Given the description of an element on the screen output the (x, y) to click on. 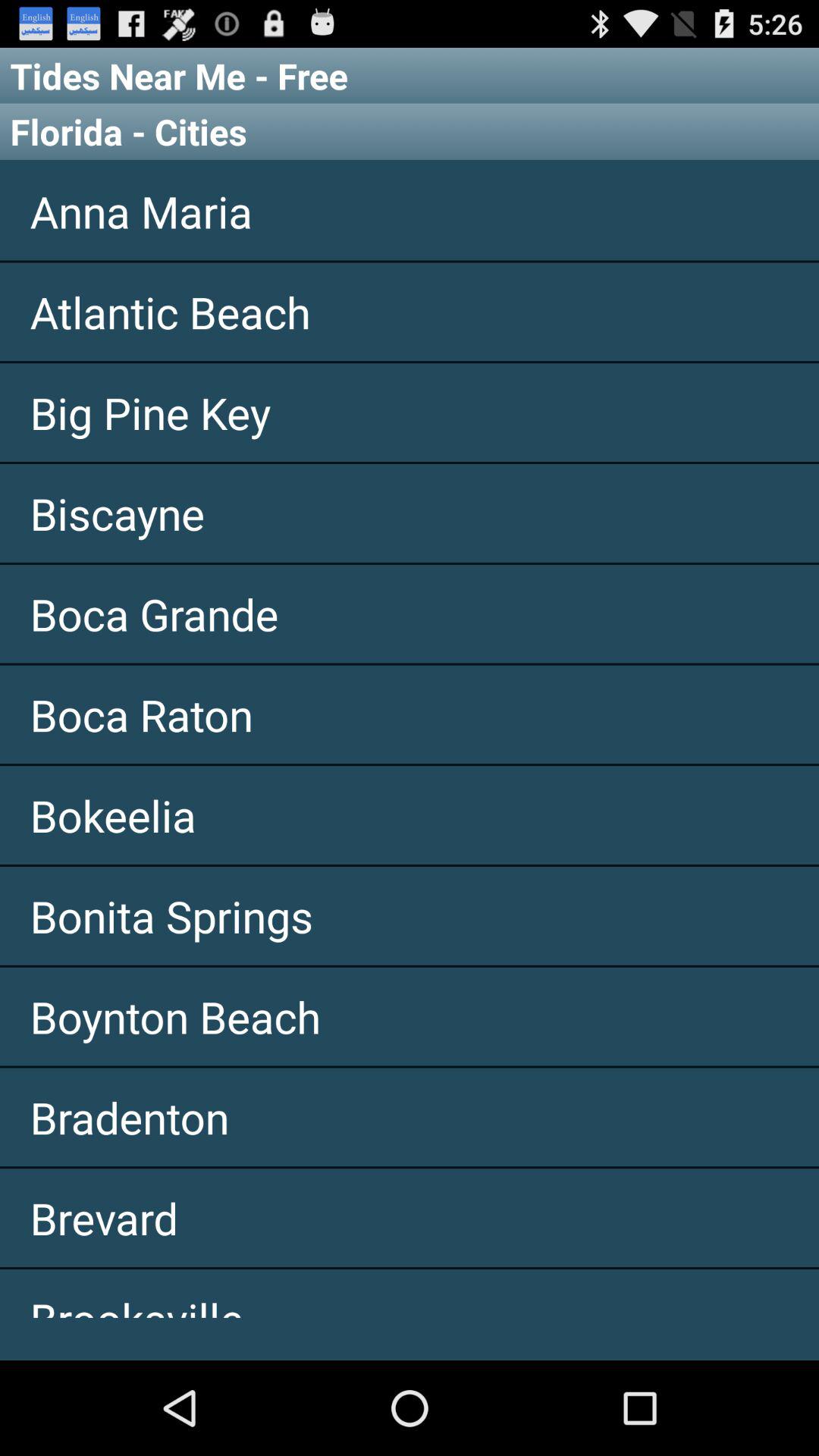
launch the item above the bokeelia (409, 714)
